Given the description of an element on the screen output the (x, y) to click on. 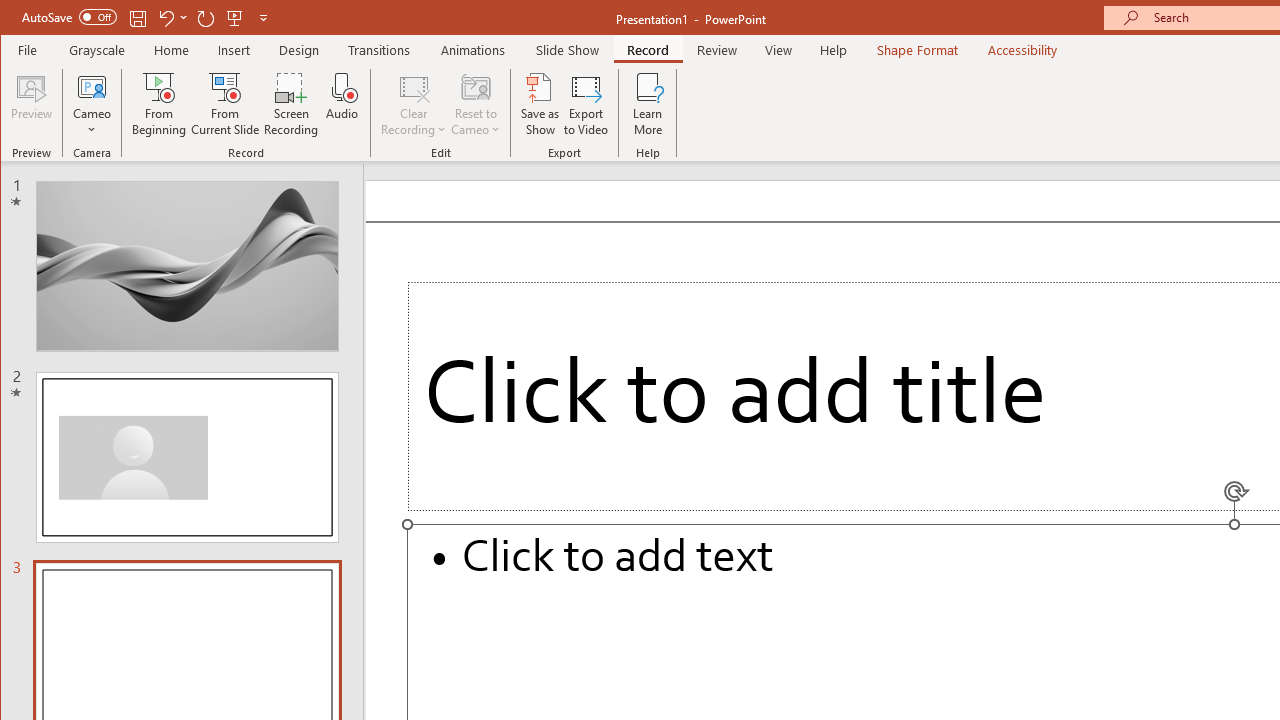
Home (171, 50)
Slide (187, 457)
Save as Show (539, 104)
From Beginning (235, 17)
Preview (31, 104)
Screen Recording (291, 104)
Shape Format (916, 50)
Learn More (648, 104)
Clear Recording (413, 104)
AutoSave (68, 16)
Quick Access Toolbar (146, 17)
View (779, 50)
Animations (473, 50)
Design (299, 50)
